Given the description of an element on the screen output the (x, y) to click on. 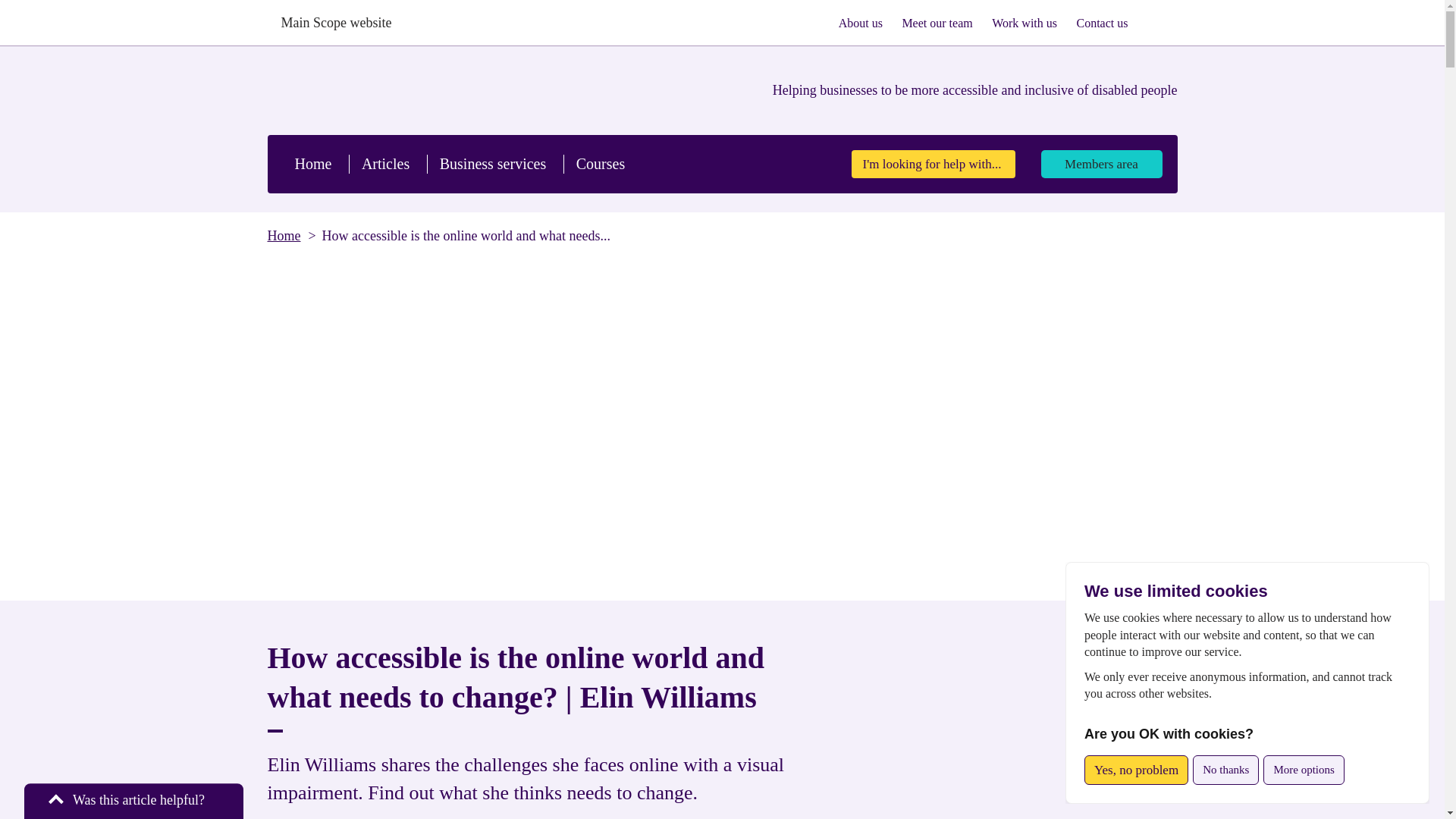
About us (860, 23)
Members area (1101, 163)
Meet our team (936, 23)
Business services (493, 163)
Courses (600, 163)
Main Scope website (328, 22)
Contact us (1101, 23)
Home (312, 163)
I'm looking for help with... (932, 163)
Articles (385, 163)
Work with us (1024, 23)
